Given the description of an element on the screen output the (x, y) to click on. 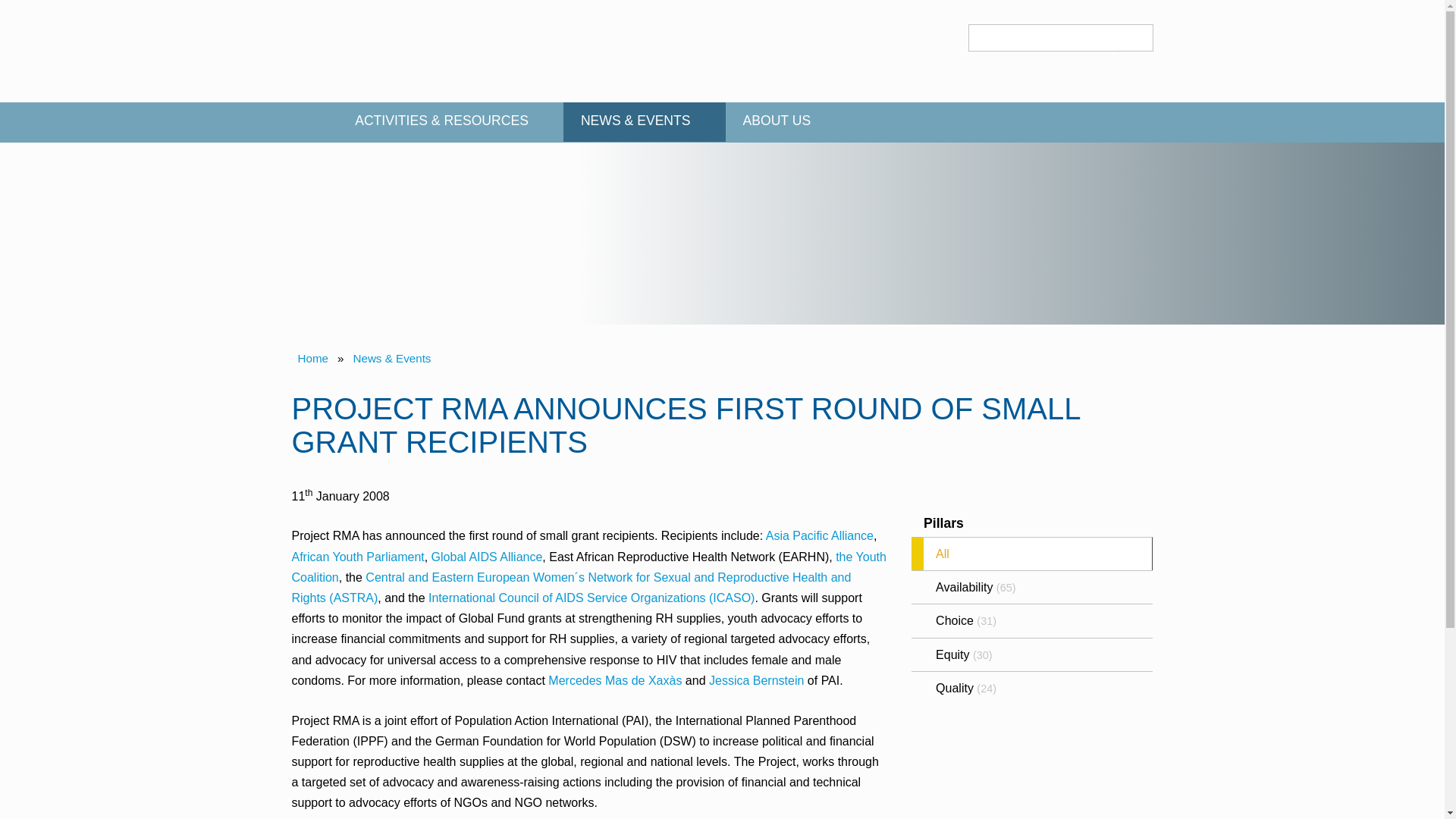
Home (314, 122)
Search (1133, 36)
